Given the description of an element on the screen output the (x, y) to click on. 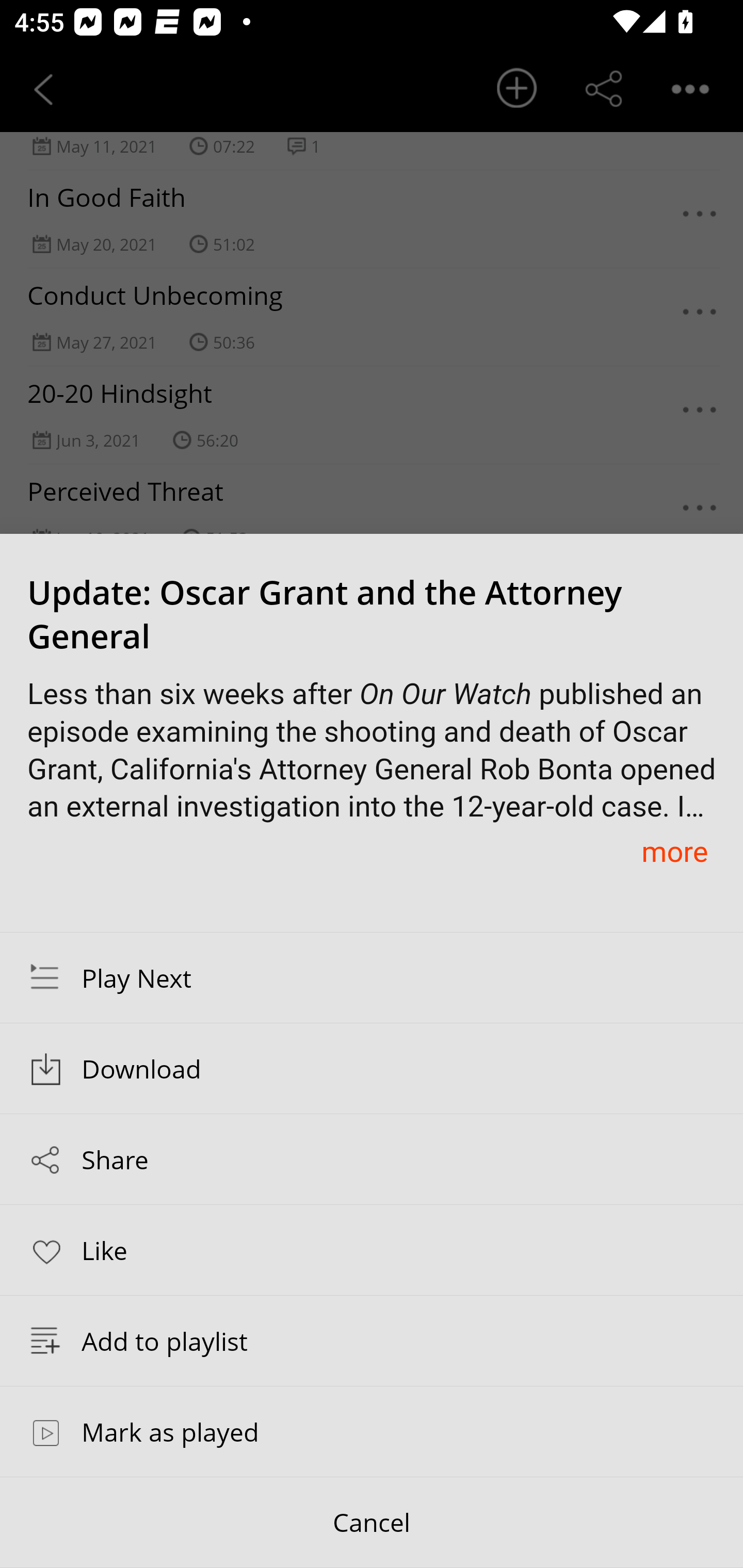
more (674, 851)
Play Next (371, 977)
Download (371, 1068)
Share (371, 1159)
Like (371, 1249)
Add to playlist (371, 1340)
Mark as played (371, 1431)
Cancel (371, 1522)
